Given the description of an element on the screen output the (x, y) to click on. 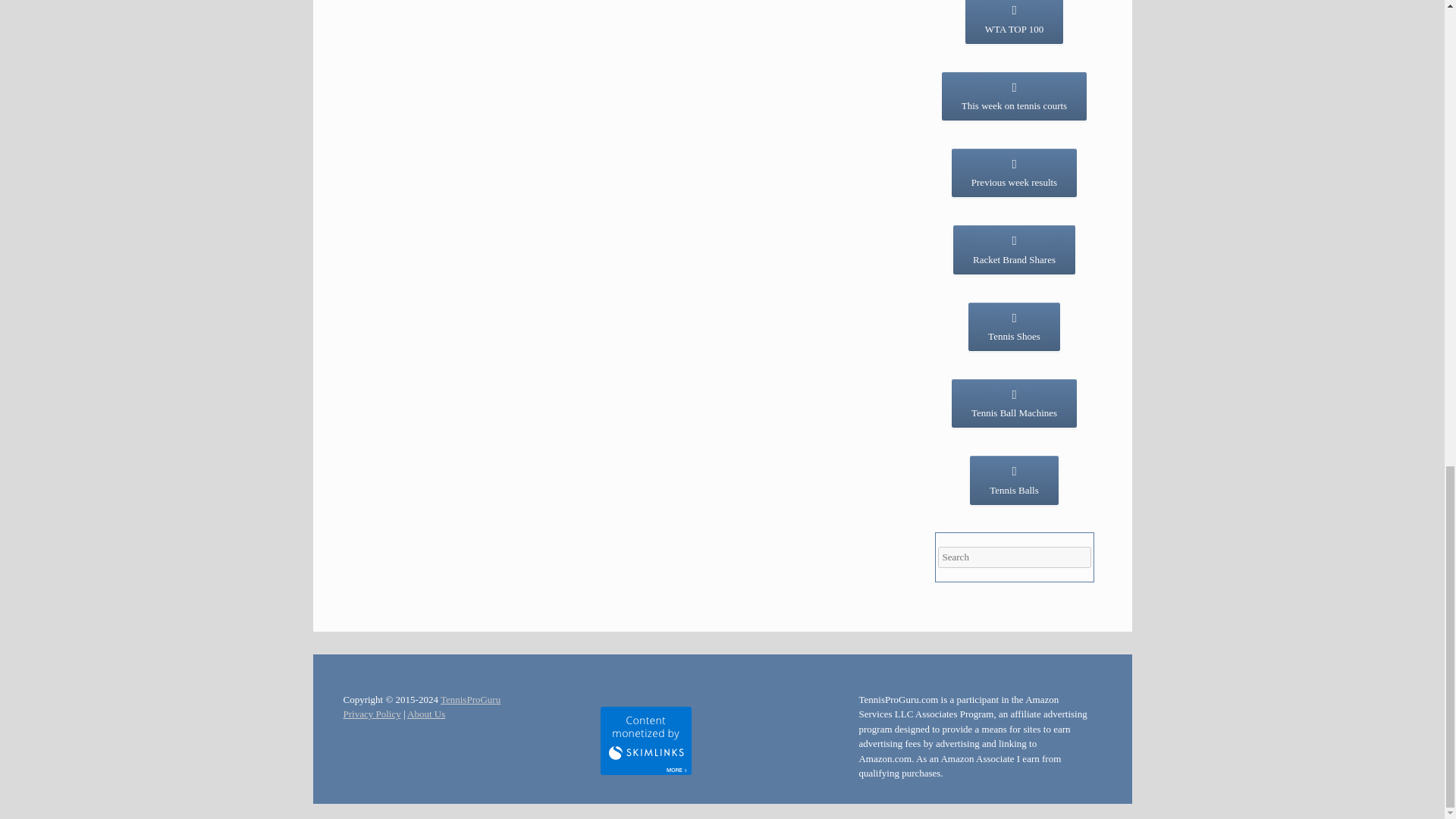
Racket Brand Shares (1013, 249)
Tennis Ball Machines (1013, 403)
Tennis Shoes (1014, 327)
This week on tennis courts (1013, 96)
WTA TOP 100 (1013, 22)
Previous week results (1013, 173)
Tennis Balls (1013, 480)
